Given the description of an element on the screen output the (x, y) to click on. 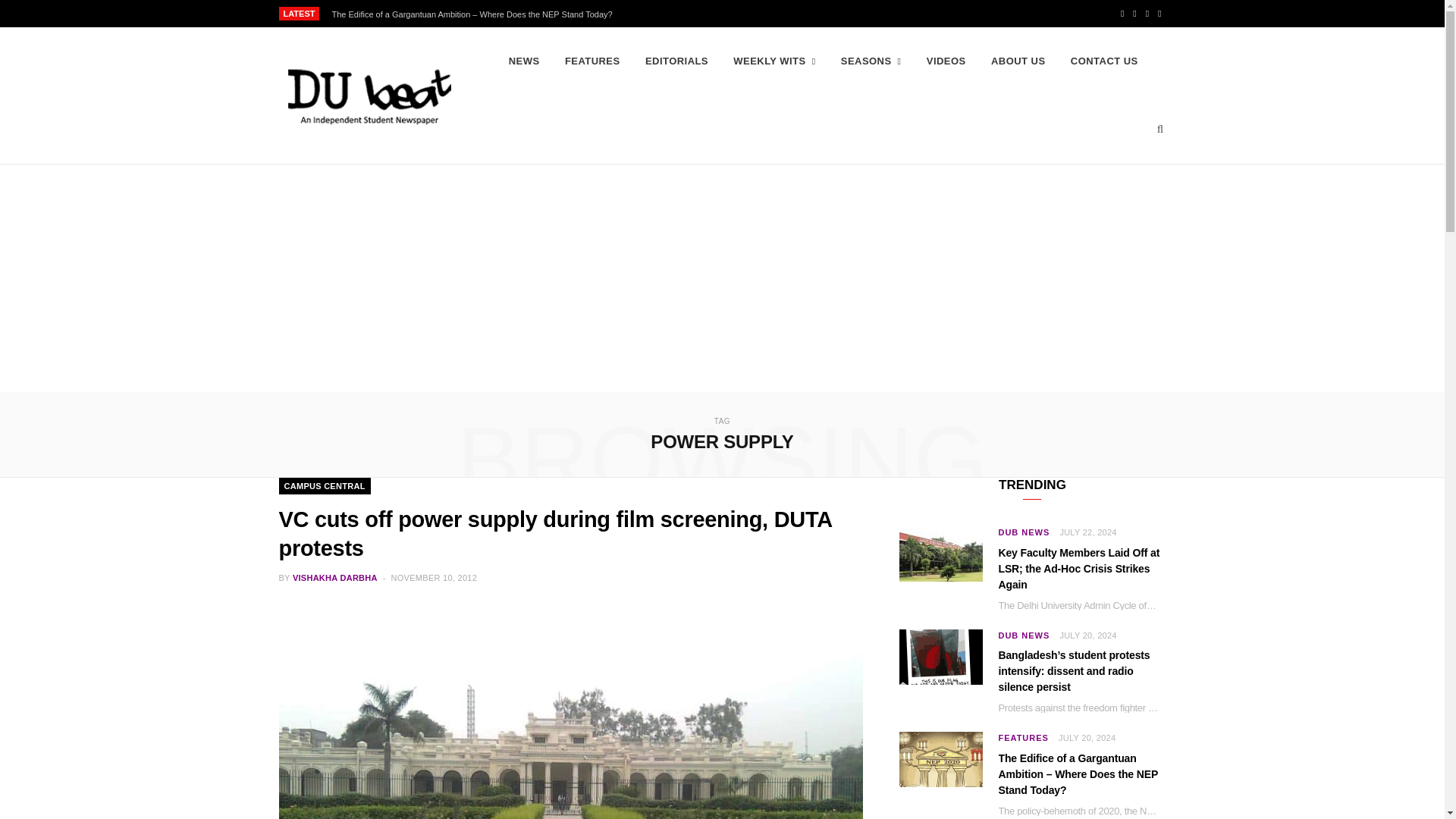
FEATURES (592, 61)
EDITORIALS (676, 61)
WEEKLY WITS (774, 61)
